Given the description of an element on the screen output the (x, y) to click on. 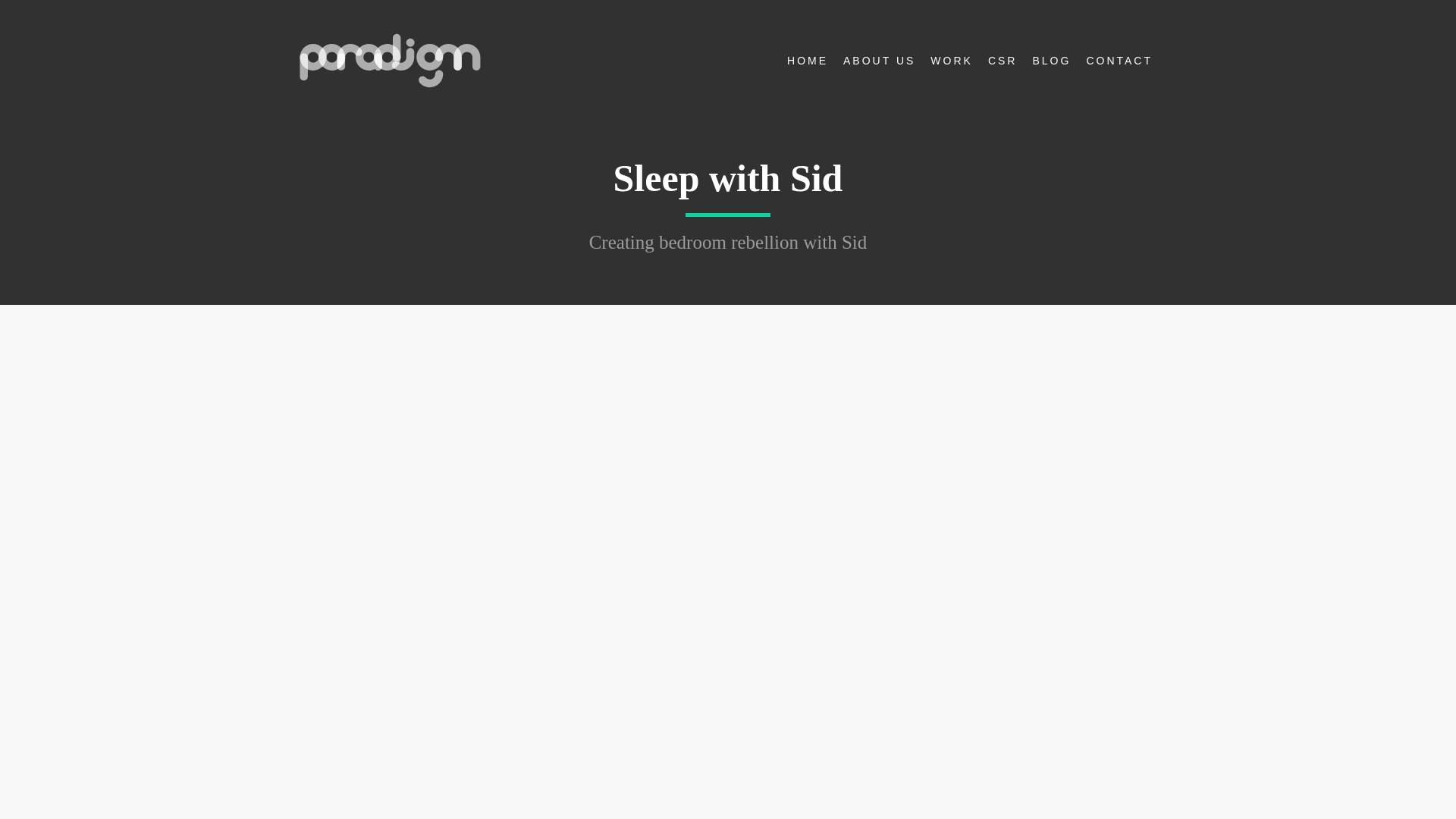
CSR (1002, 60)
WORK (951, 60)
CONTACT (1119, 60)
BLOG (1051, 60)
ABOUT US (879, 60)
HOME (806, 60)
